Given the description of an element on the screen output the (x, y) to click on. 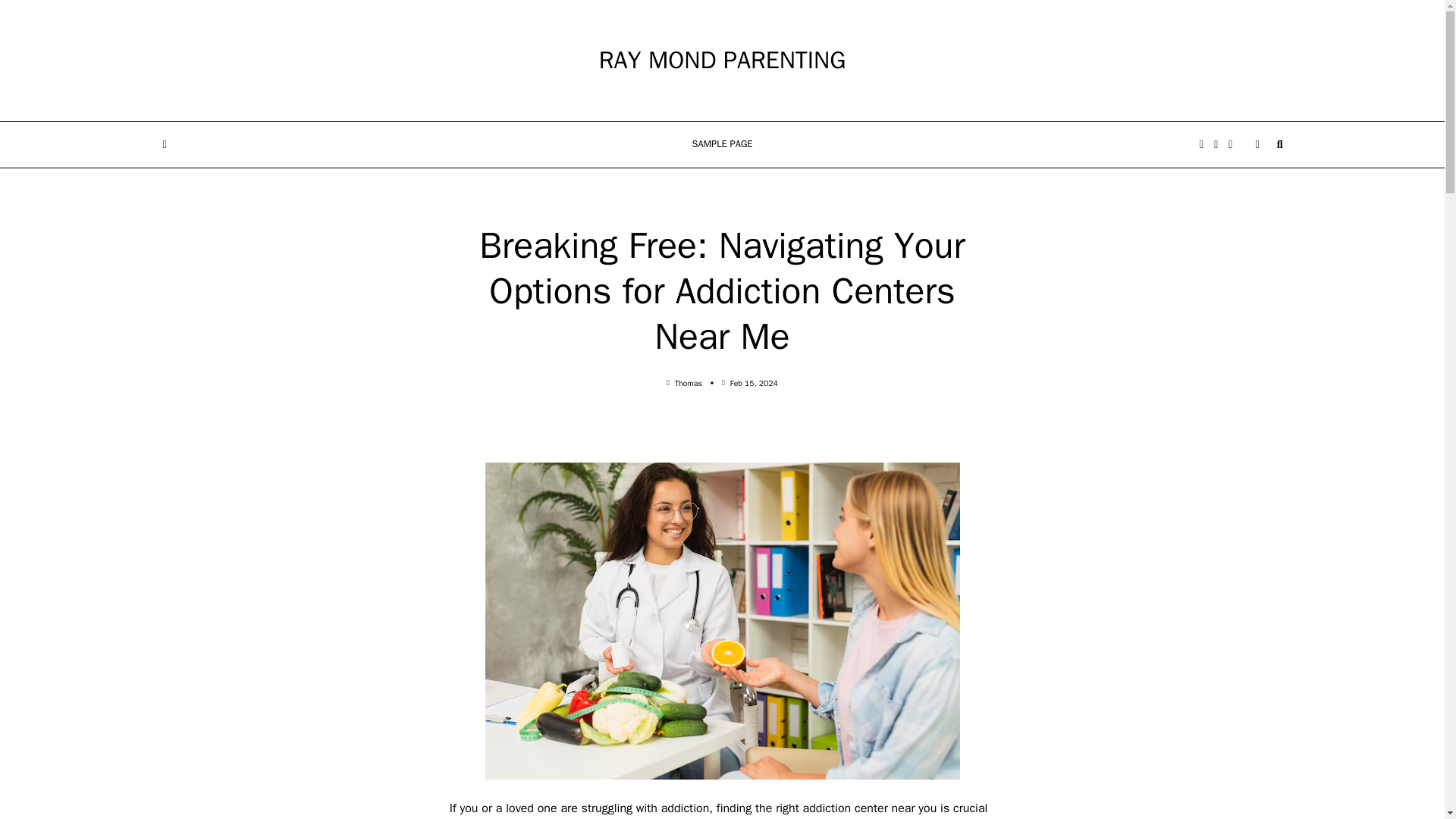
SAMPLE PAGE (721, 144)
Feb 15, 2024 (753, 383)
RAY MOND PARENTING (721, 60)
Thomas (688, 383)
